Given the description of an element on the screen output the (x, y) to click on. 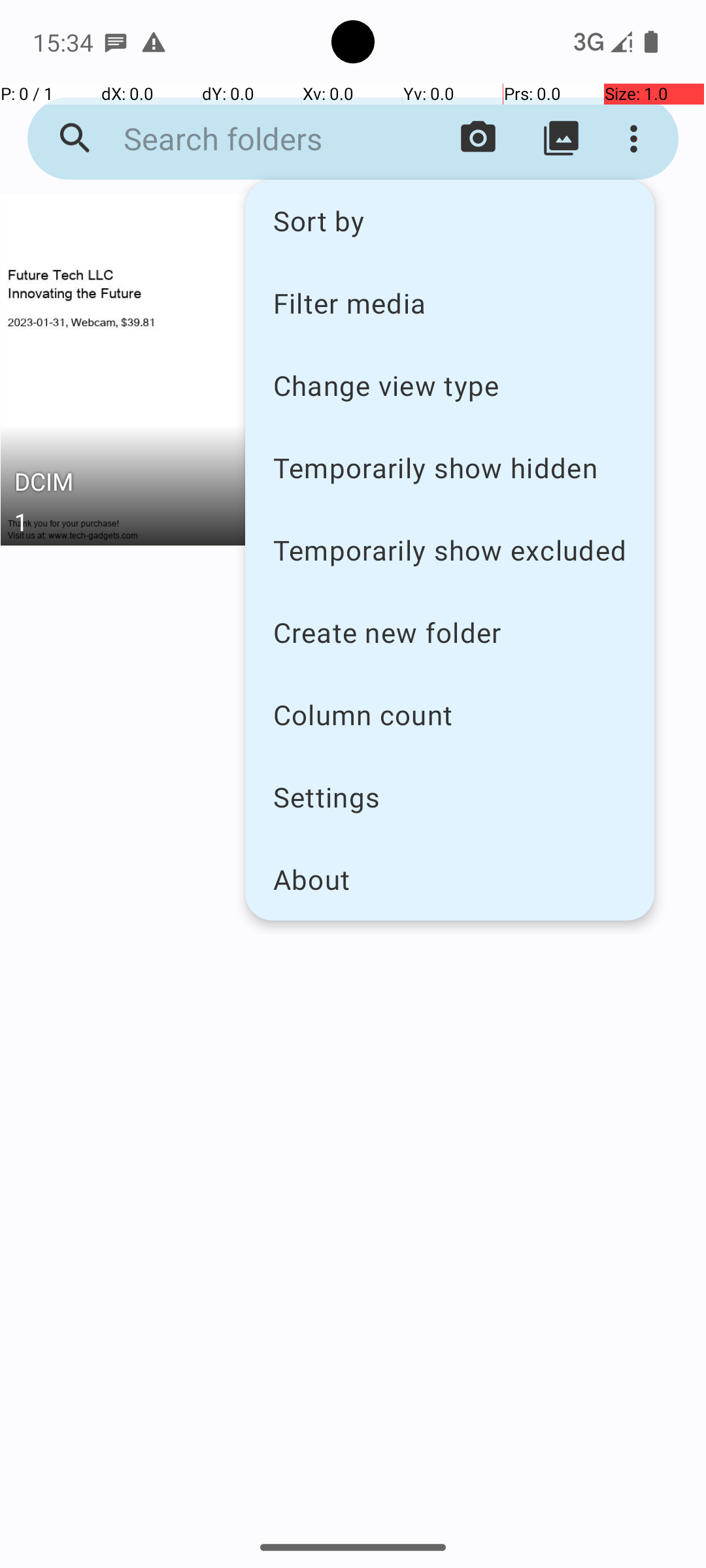
Filter media Element type: android.widget.TextView (449, 302)
Change view type Element type: android.widget.TextView (449, 384)
Temporarily show hidden Element type: android.widget.TextView (449, 467)
Temporarily show excluded Element type: android.widget.TextView (449, 549)
Create new folder Element type: android.widget.TextView (449, 631)
Column count Element type: android.widget.TextView (449, 714)
